Given the description of an element on the screen output the (x, y) to click on. 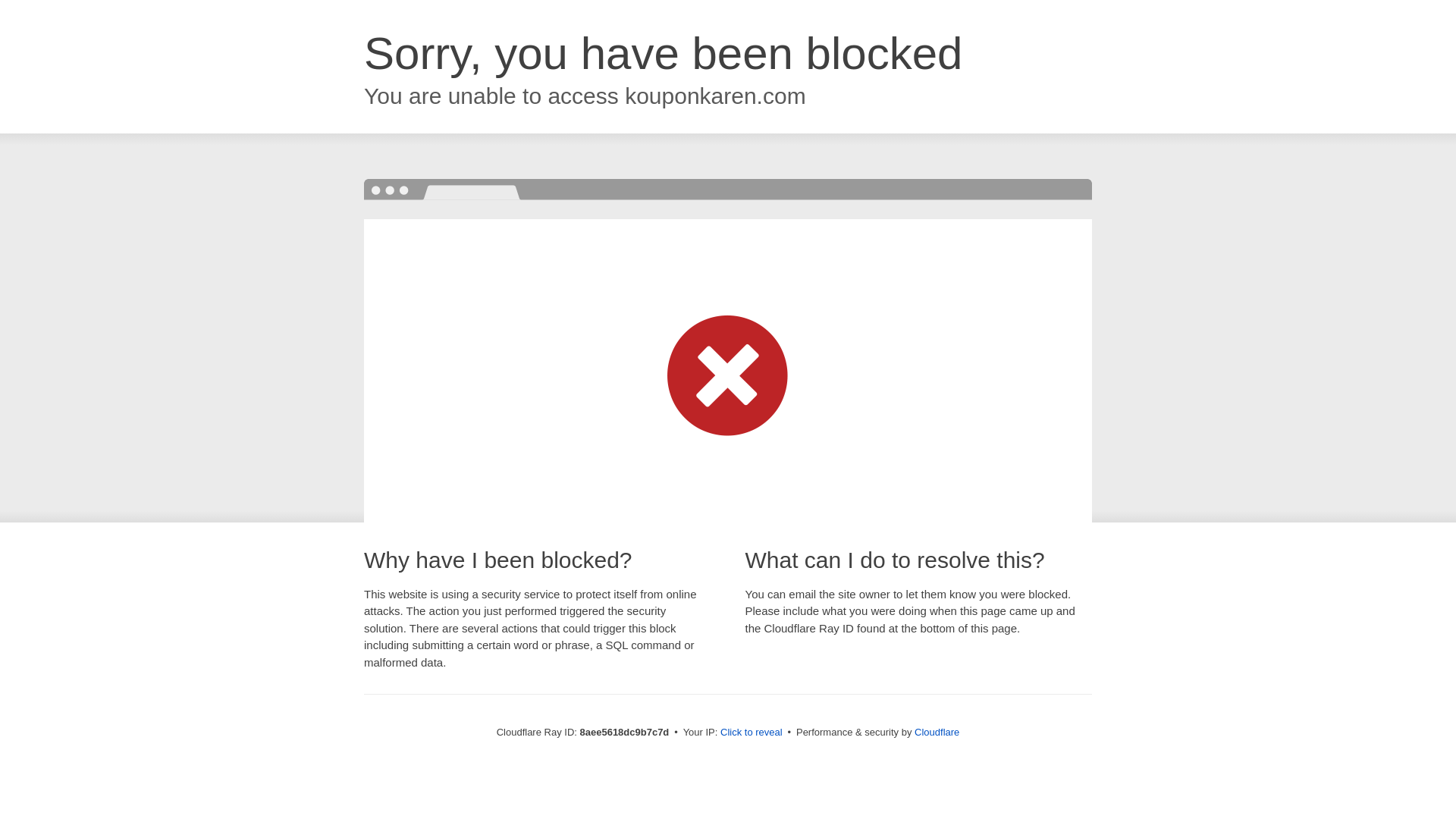
Cloudflare (936, 731)
Click to reveal (751, 732)
